Given the description of an element on the screen output the (x, y) to click on. 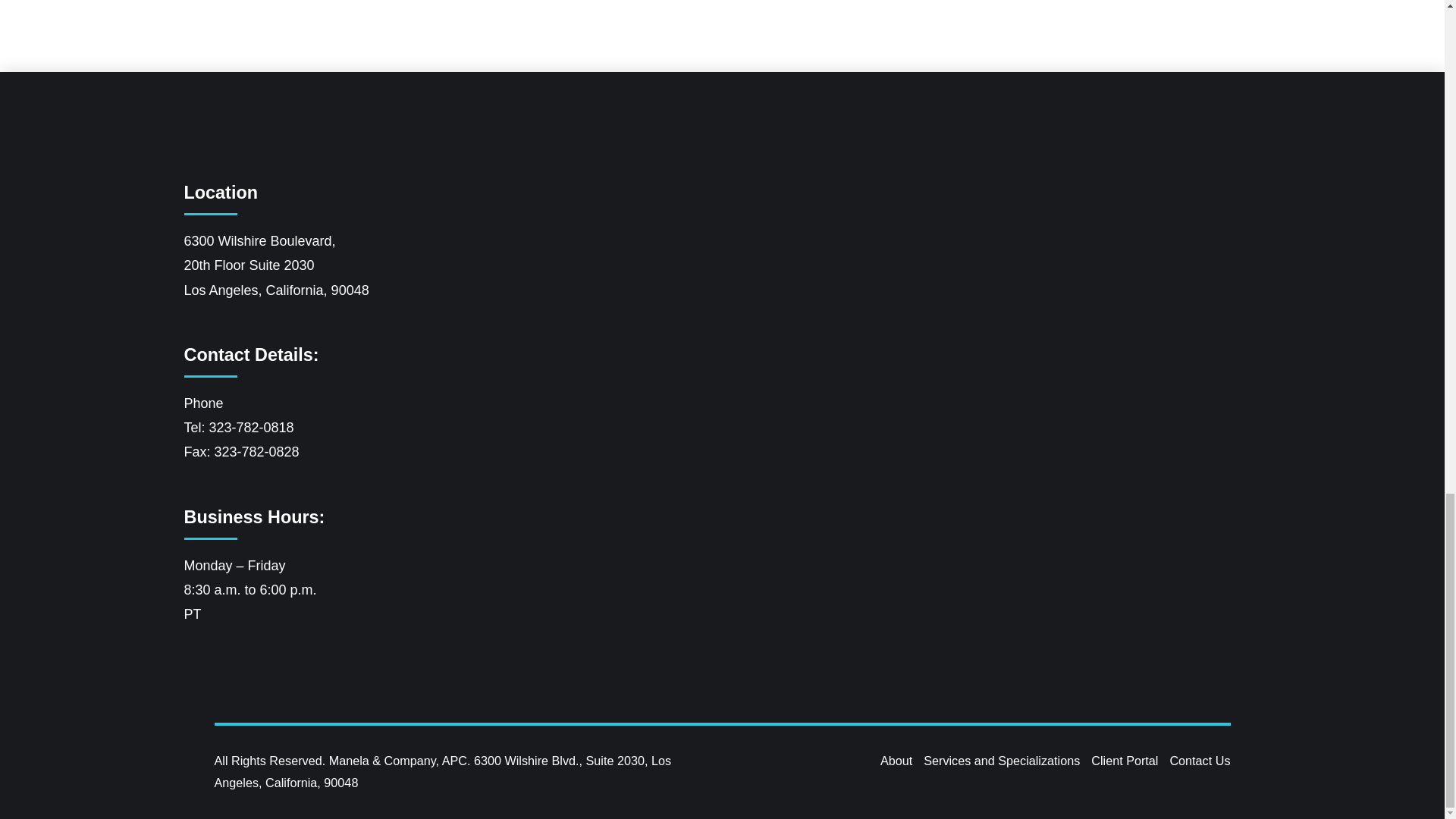
About (896, 760)
Services and Specializations (1001, 760)
Client Portal (1123, 760)
Contact Us (1199, 760)
